Given the description of an element on the screen output the (x, y) to click on. 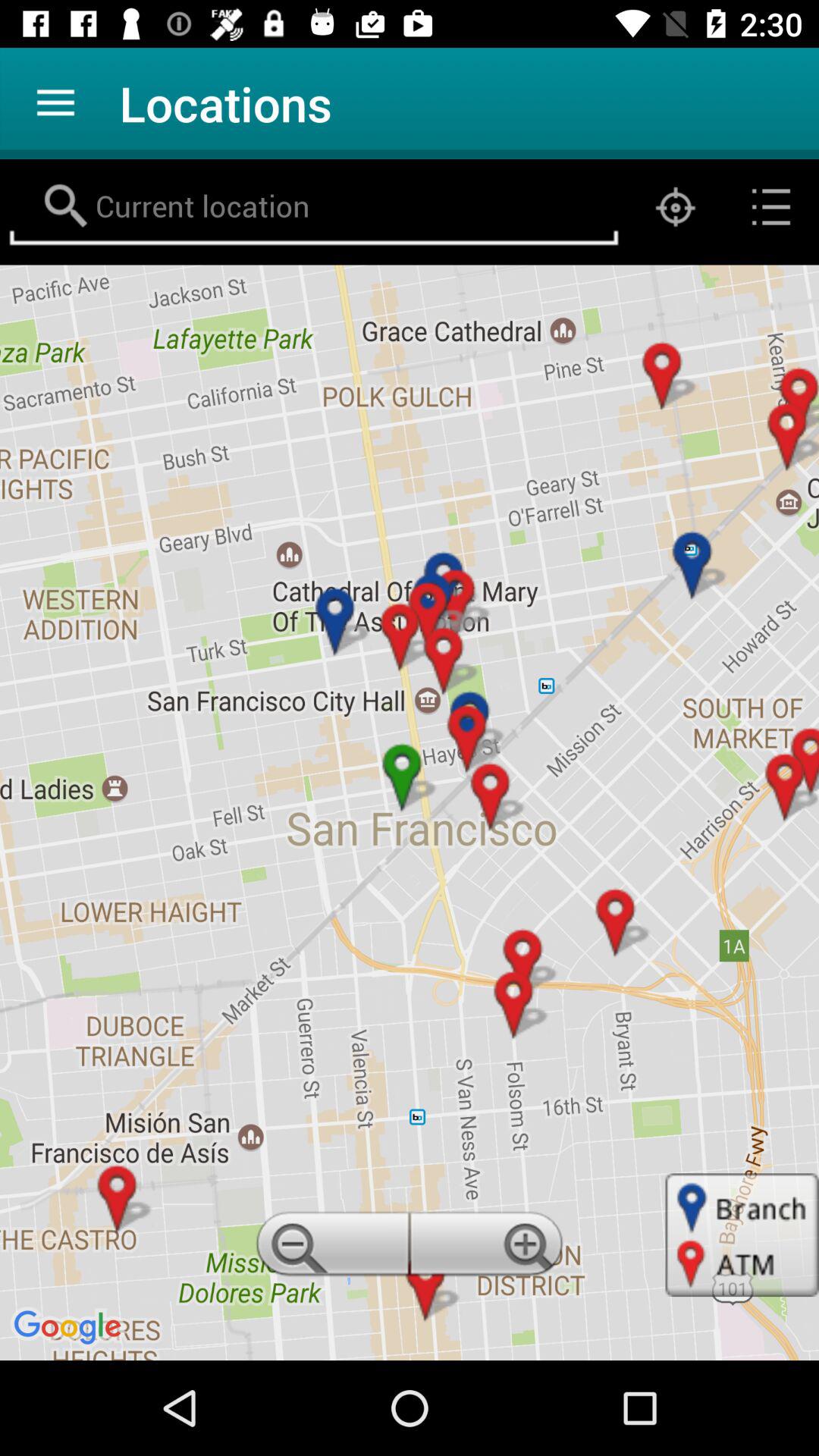
zoom out (329, 1248)
